Given the description of an element on the screen output the (x, y) to click on. 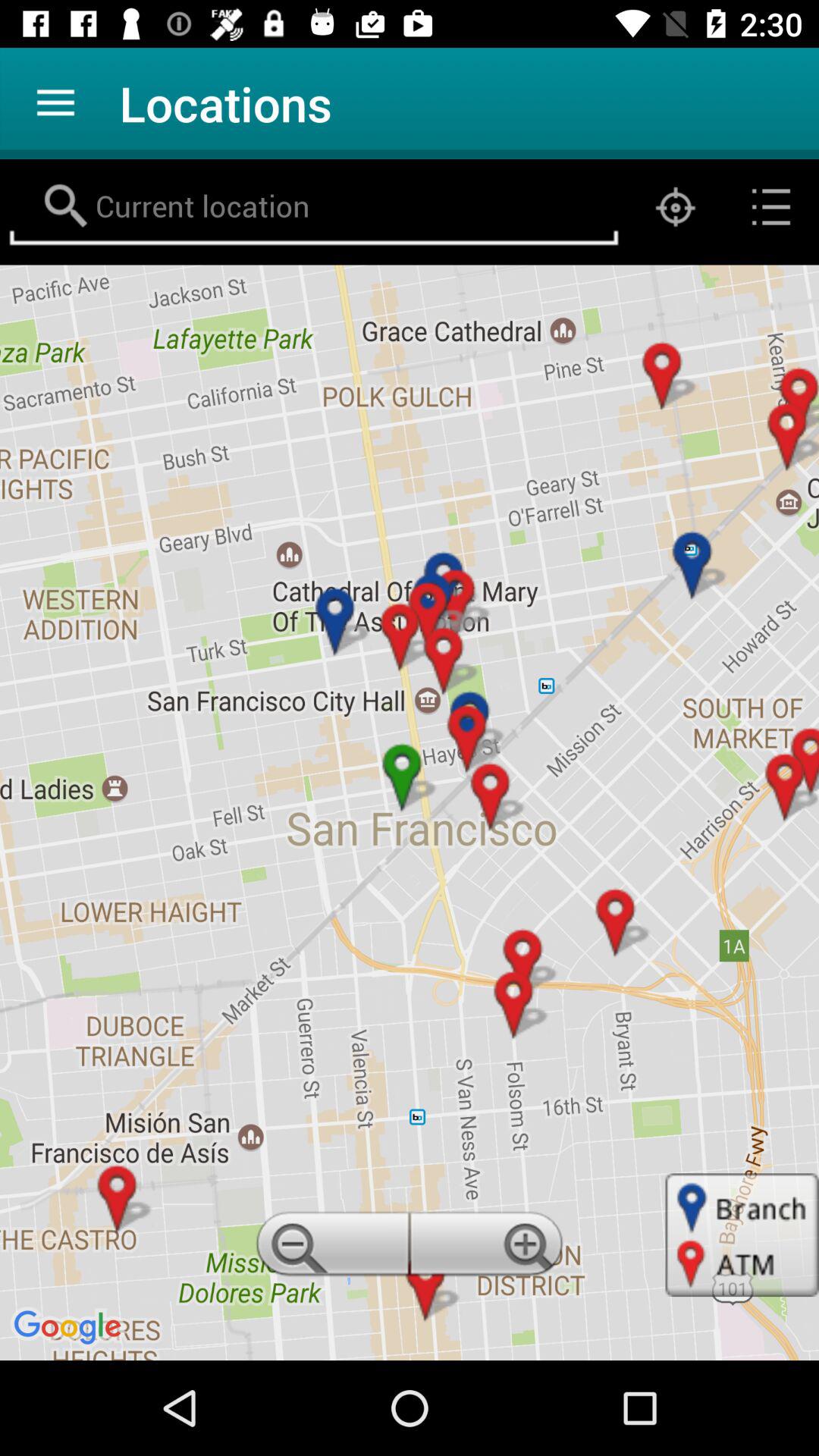
zoom out (329, 1248)
